Given the description of an element on the screen output the (x, y) to click on. 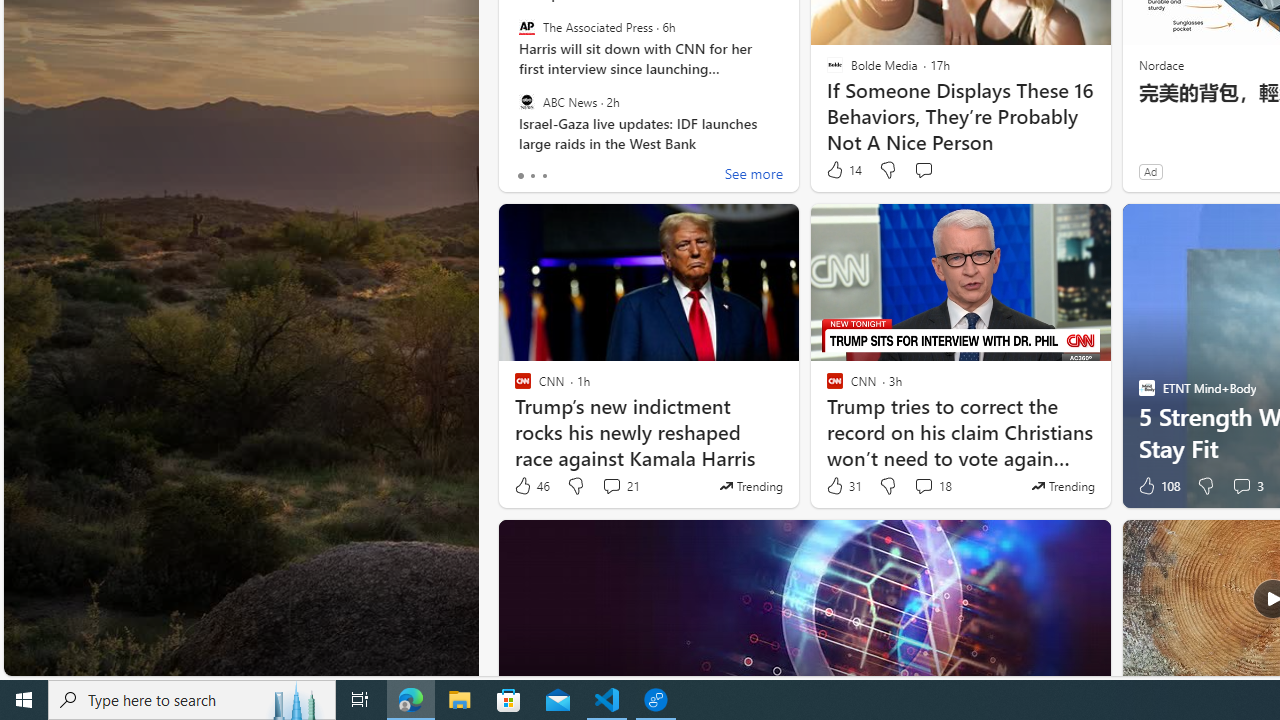
View comments 3 Comment (1247, 485)
tab-2 (543, 175)
View comments 21 Comment (619, 485)
View comments 18 Comment (932, 485)
108 Like (1157, 485)
tab-1 (532, 175)
31 Like (843, 485)
46 Like (531, 485)
